Given the description of an element on the screen output the (x, y) to click on. 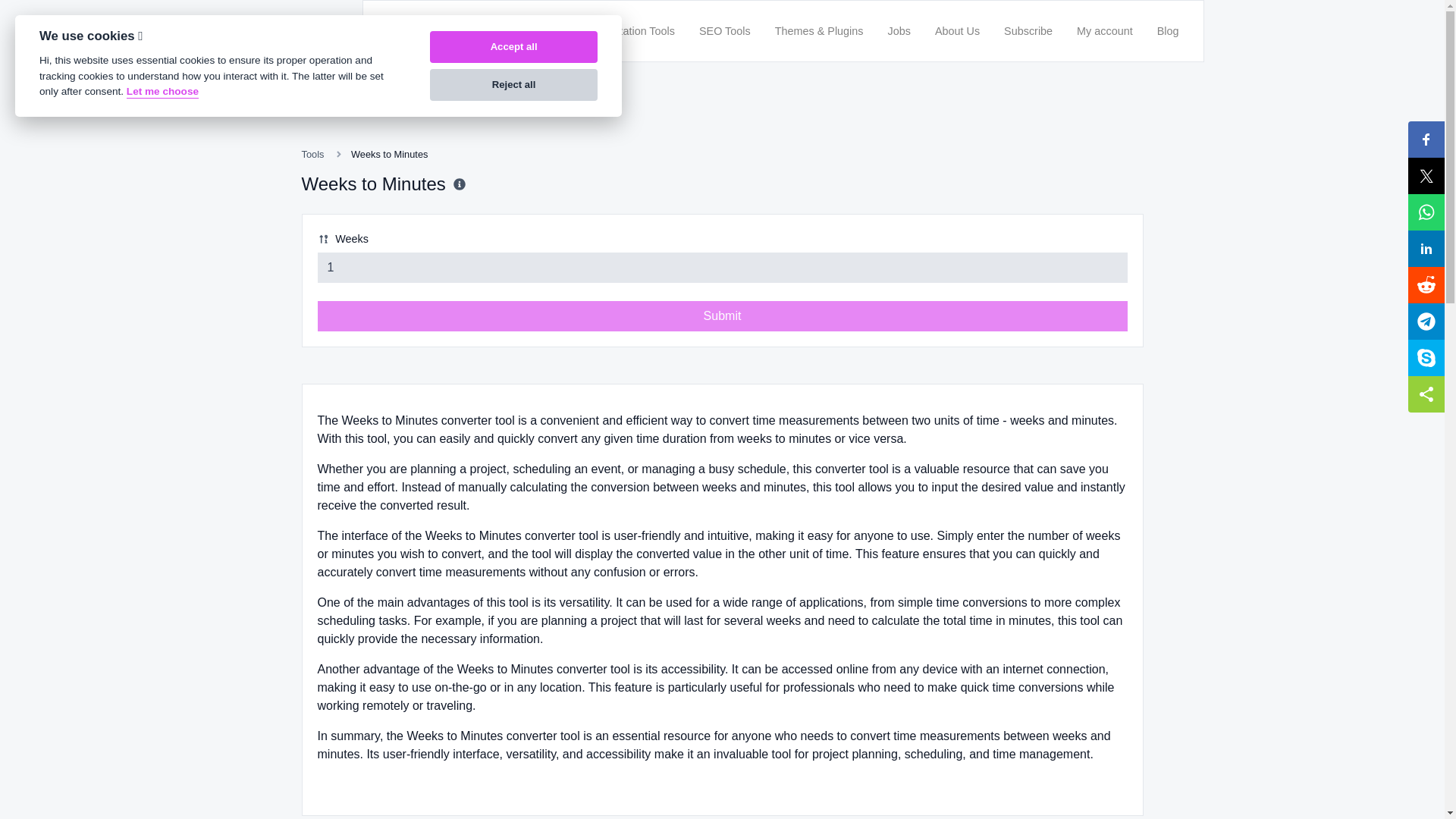
Tools (312, 153)
SEO Tools (724, 30)
Subscribe (1027, 30)
Submit (721, 316)
Let me choose (162, 91)
Home (546, 30)
1 (721, 267)
Jobs (898, 30)
Optimization Tools (630, 30)
Accept all (512, 47)
